Given the description of an element on the screen output the (x, y) to click on. 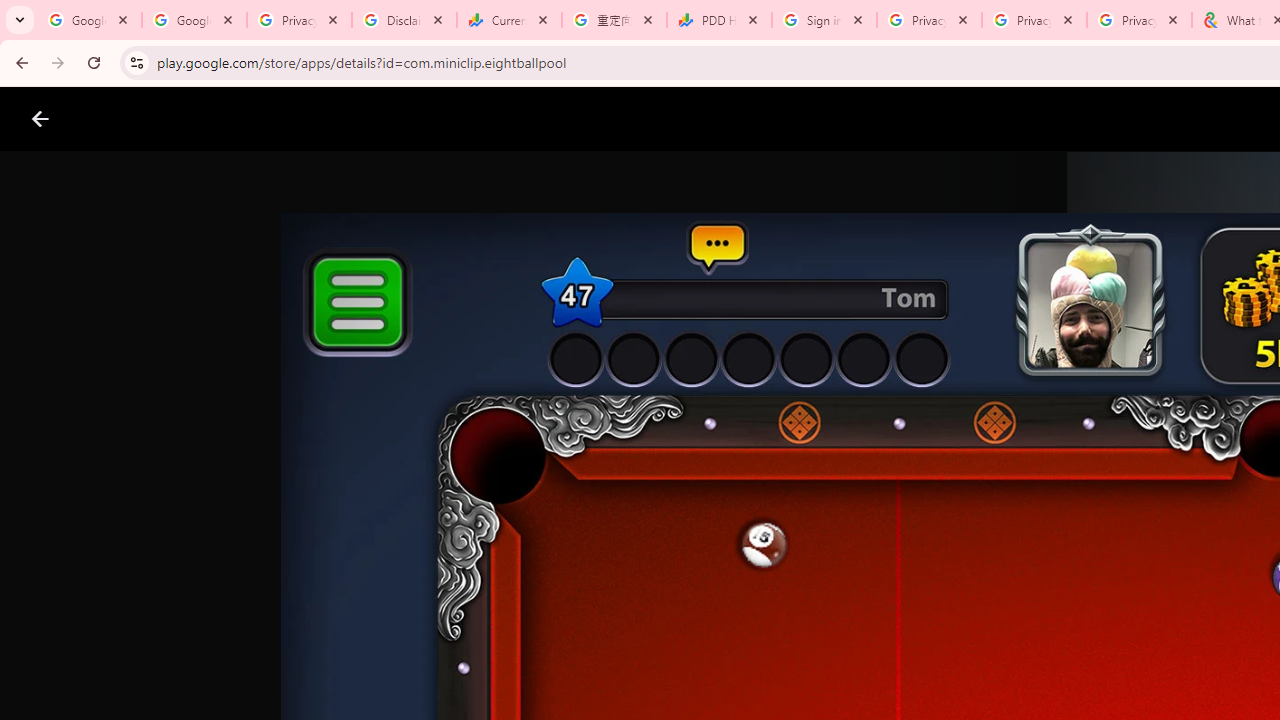
Apps (321, 119)
Google Play logo (111, 119)
Kids (385, 119)
Close screenshot viewer (39, 119)
Sign in - Google Accounts (823, 20)
More info about this content rating (1013, 678)
Google Workspace Admin Community (89, 20)
PDD Holdings Inc - ADR (PDD) Price & News - Google Finance (718, 20)
